Given the description of an element on the screen output the (x, y) to click on. 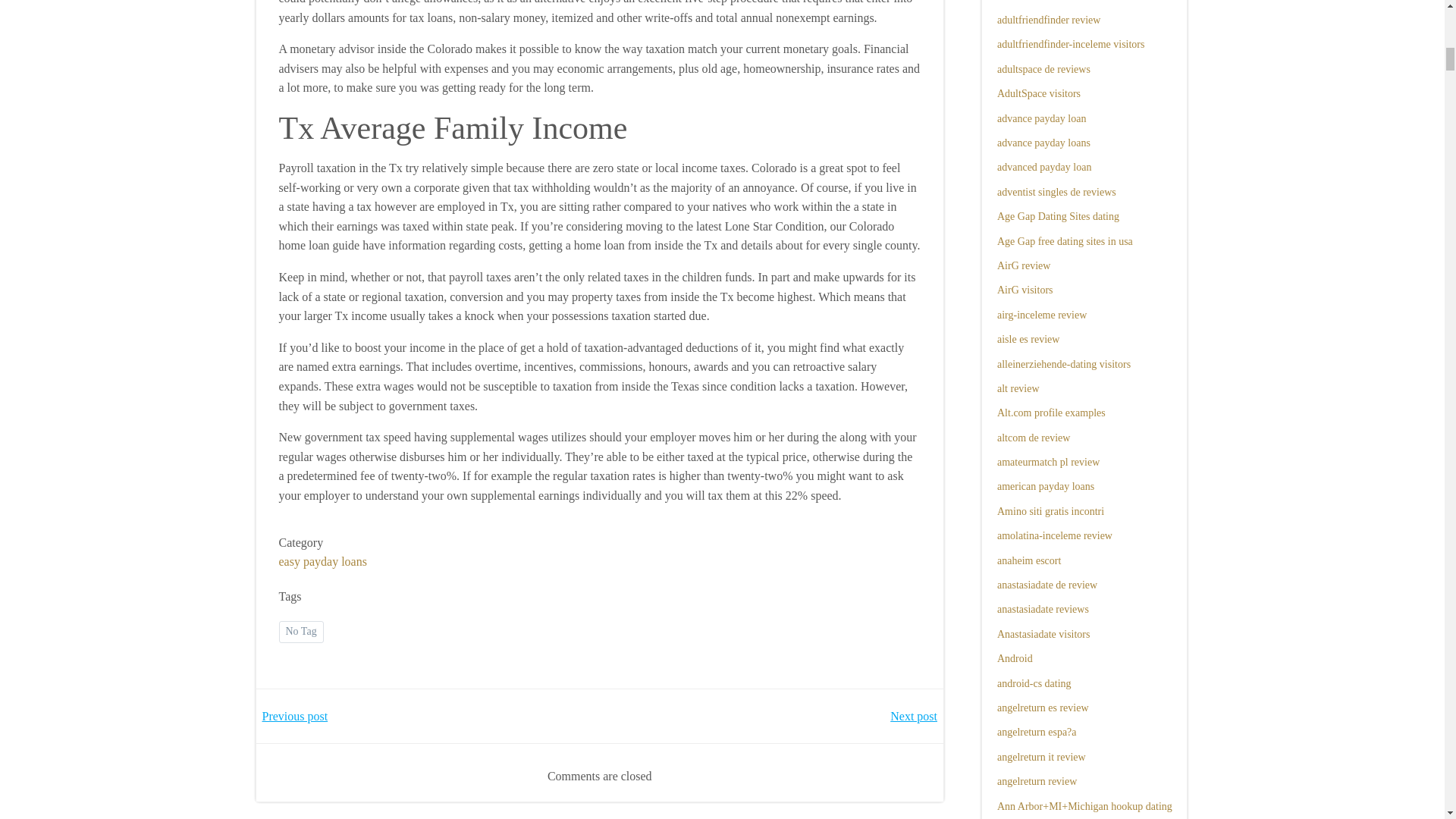
Previous post (295, 716)
easy payday loans (322, 561)
Next post (913, 716)
